Given the description of an element on the screen output the (x, y) to click on. 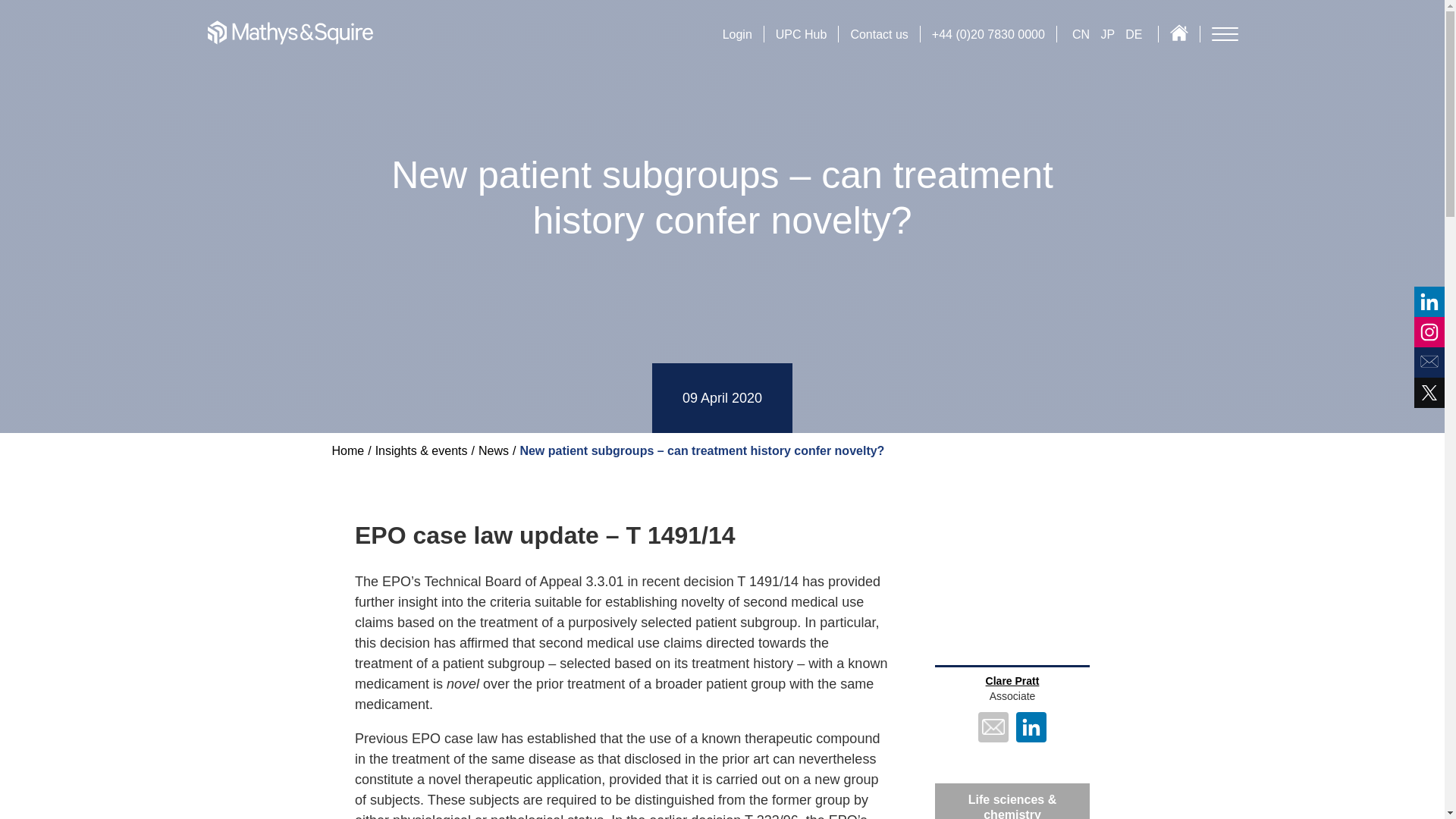
DE (1133, 33)
Samantha  Moodie (857, 681)
homepage (289, 32)
JP (1109, 33)
LinkedIn Social (1030, 728)
Login (737, 33)
Contact us (878, 33)
News (493, 450)
UPC Hub (801, 33)
Clare  Pratt (1011, 681)
